Given the description of an element on the screen output the (x, y) to click on. 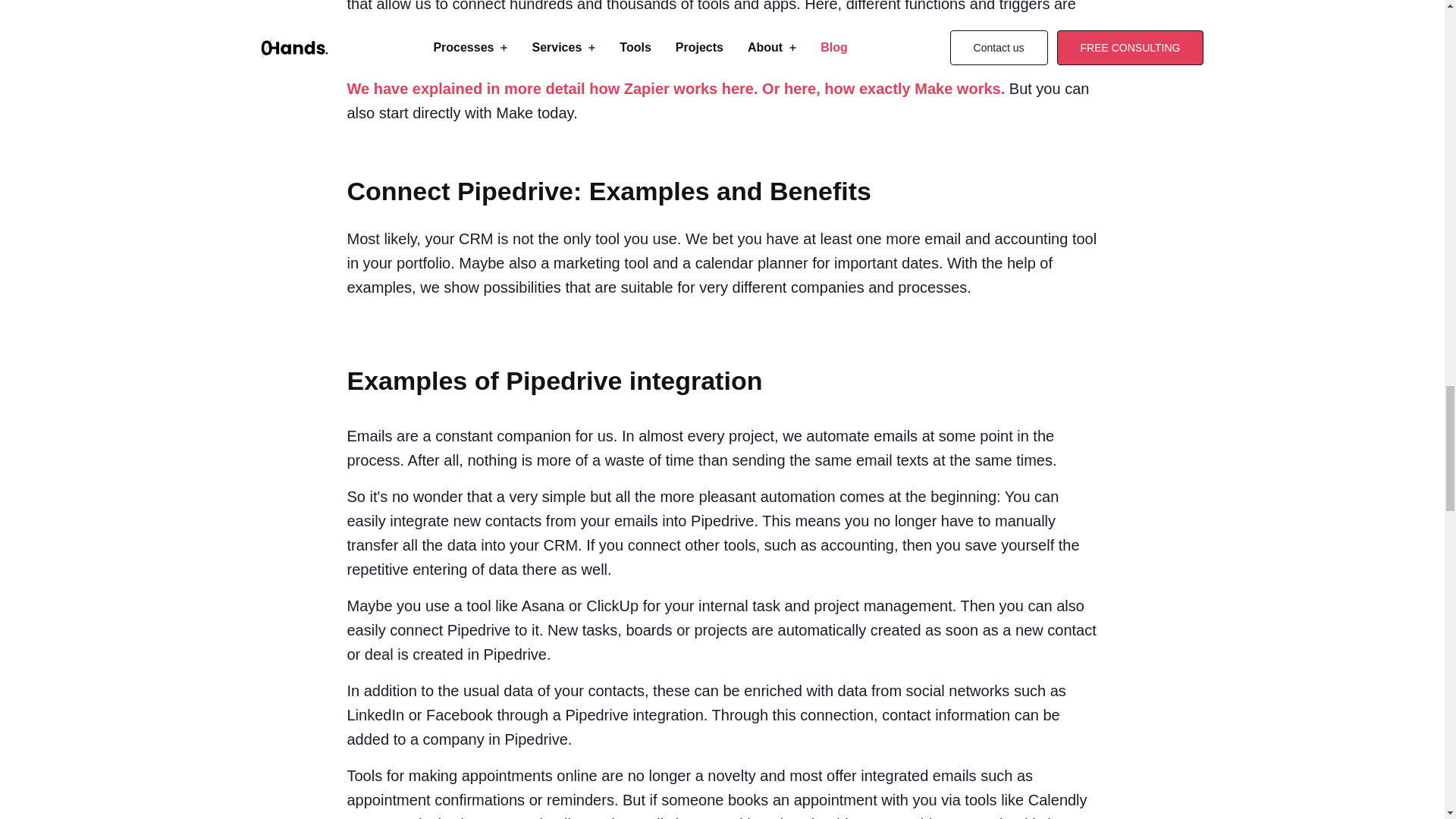
We have explained in more detail how Zapier works here. (552, 88)
Or here, how exactly Make works. (882, 88)
